Given the description of an element on the screen output the (x, y) to click on. 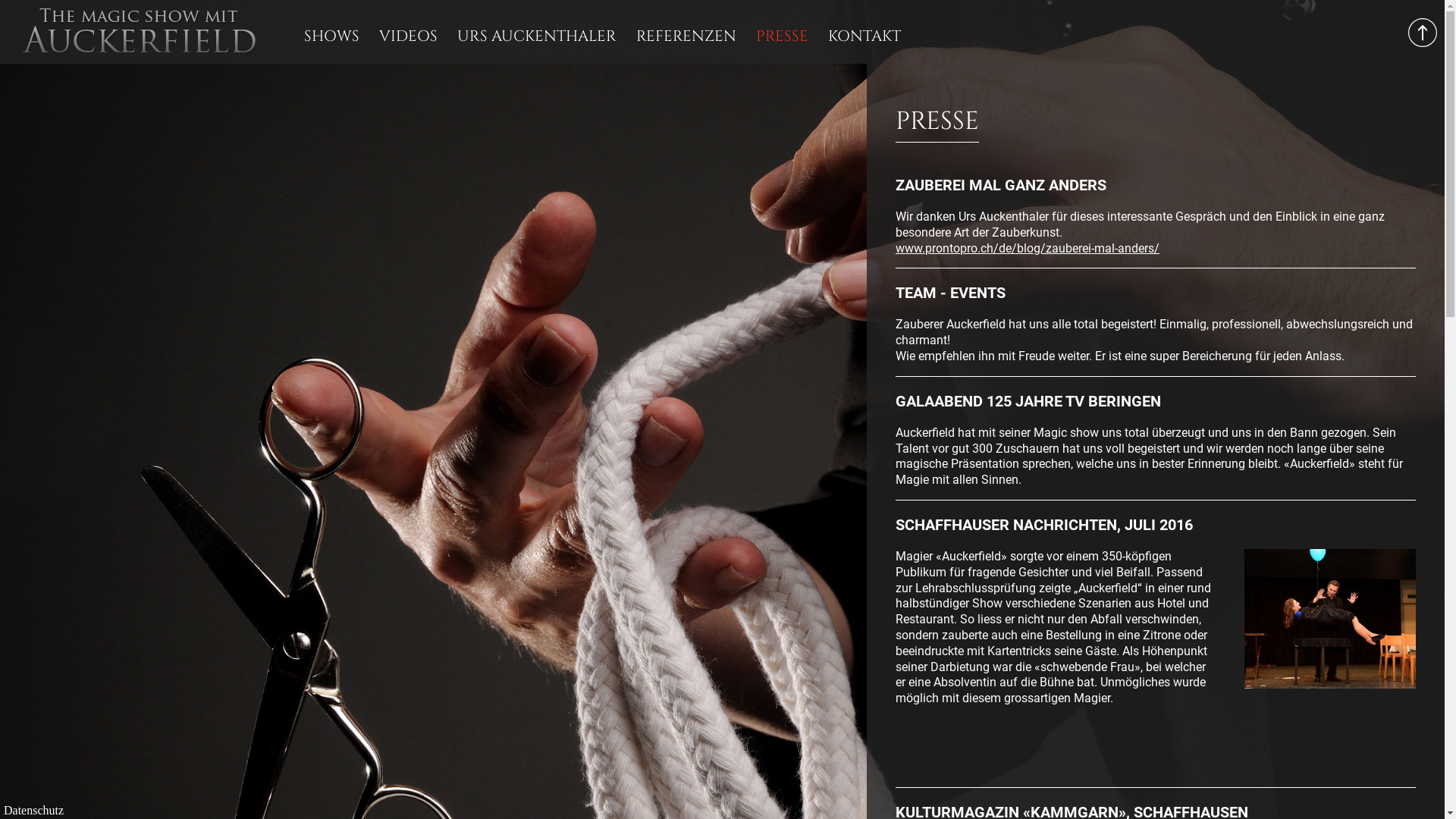
www.prontopro.ch/de/blog/zauberei-mal-anders/ Element type: text (1027, 248)
URS AUCKENTHALER Element type: text (536, 35)
SHOWS Element type: text (331, 35)
PRESSE Element type: text (782, 35)
VIDEOS Element type: text (408, 35)
KONTAKT Element type: text (864, 35)
Datenschutz Element type: text (33, 810)
REFERENZEN Element type: text (686, 35)
